Given the description of an element on the screen output the (x, y) to click on. 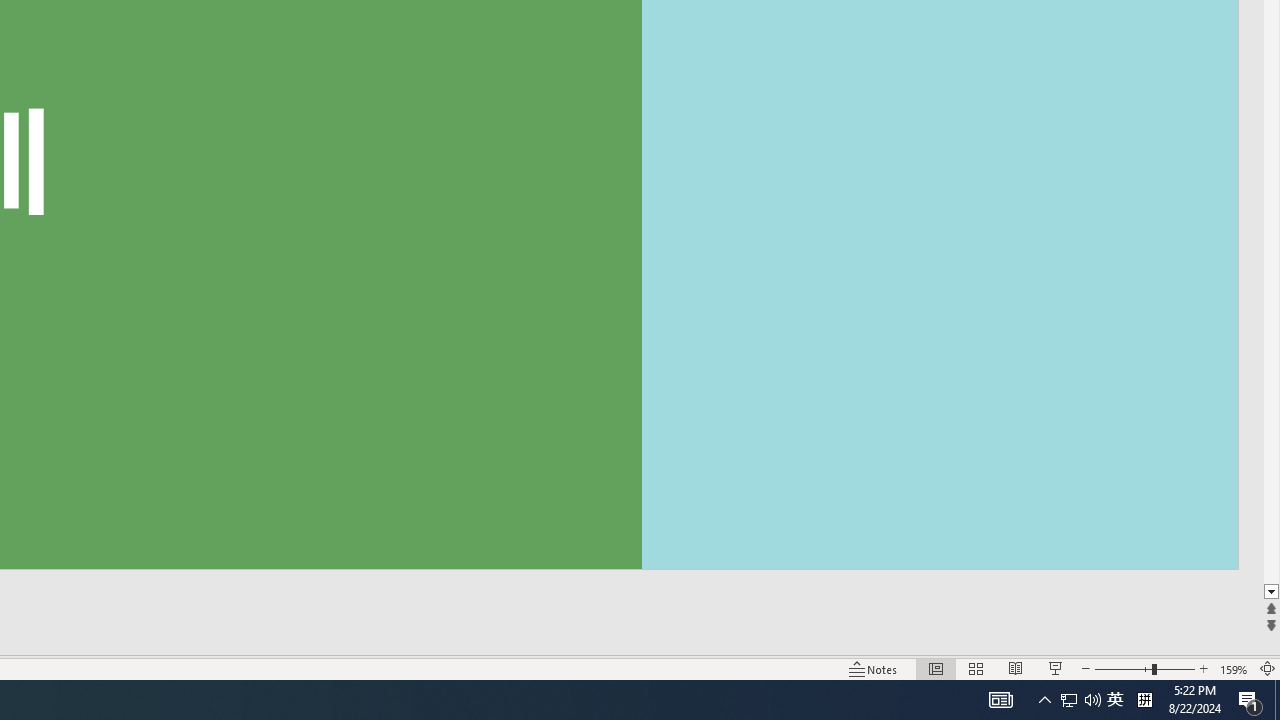
Zoom 159% (1234, 668)
